Given the description of an element on the screen output the (x, y) to click on. 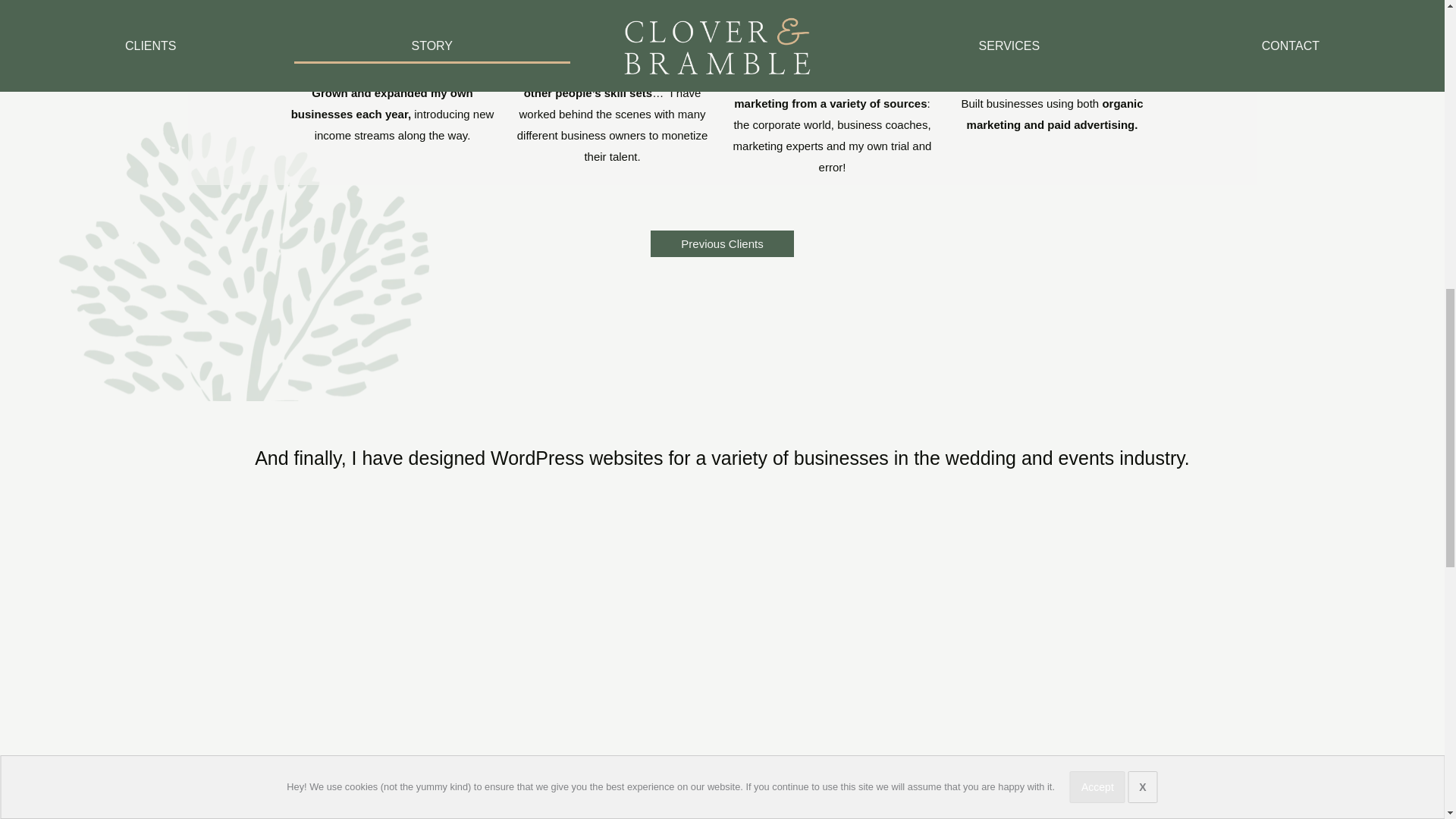
Previous Clients (721, 243)
